Given the description of an element on the screen output the (x, y) to click on. 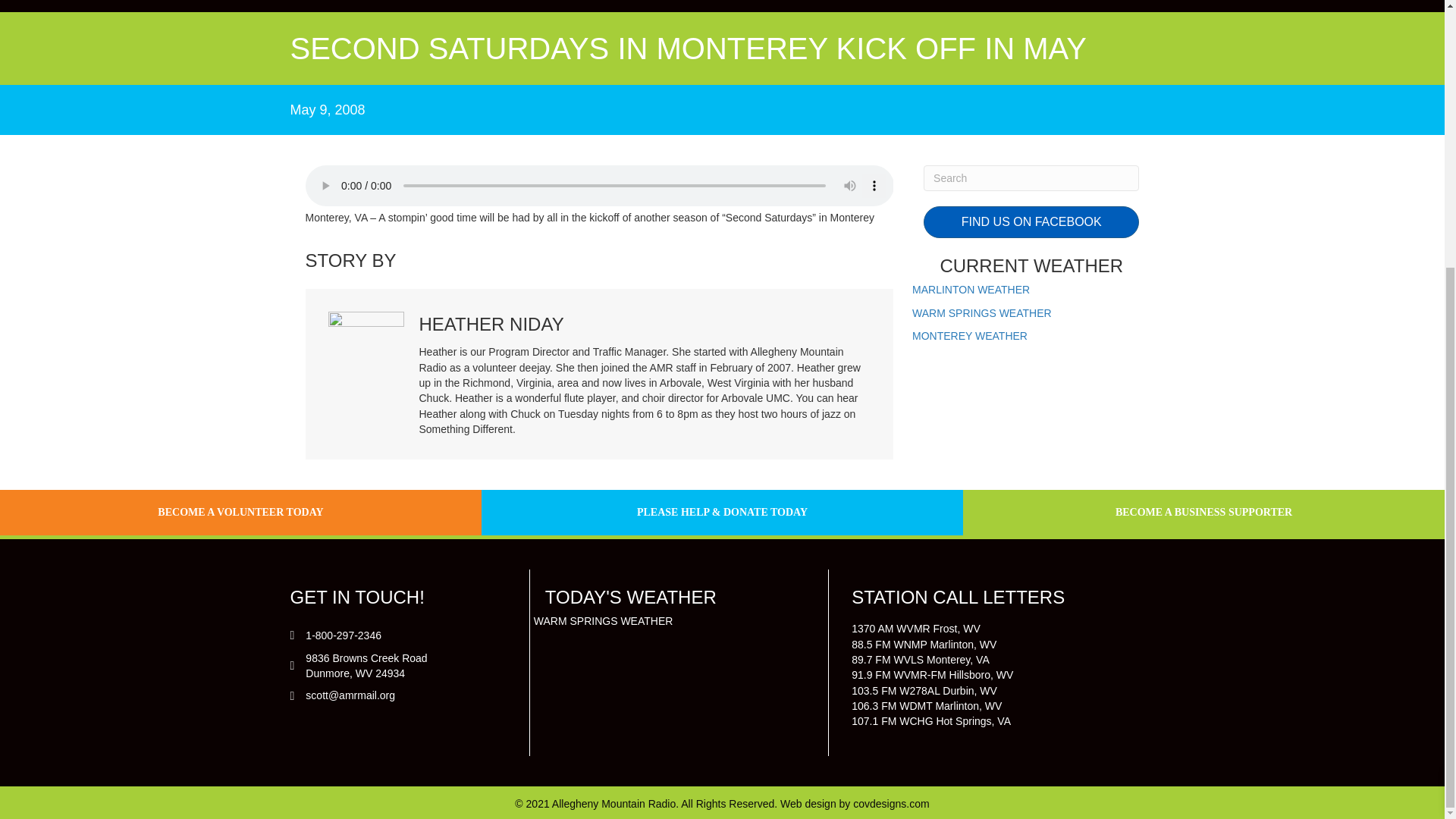
 Become a volunteer today (240, 511)
Type and press Enter to search. (1030, 177)
BECOME A BUSINESS SUPPORTER (1203, 511)
